Given the description of an element on the screen output the (x, y) to click on. 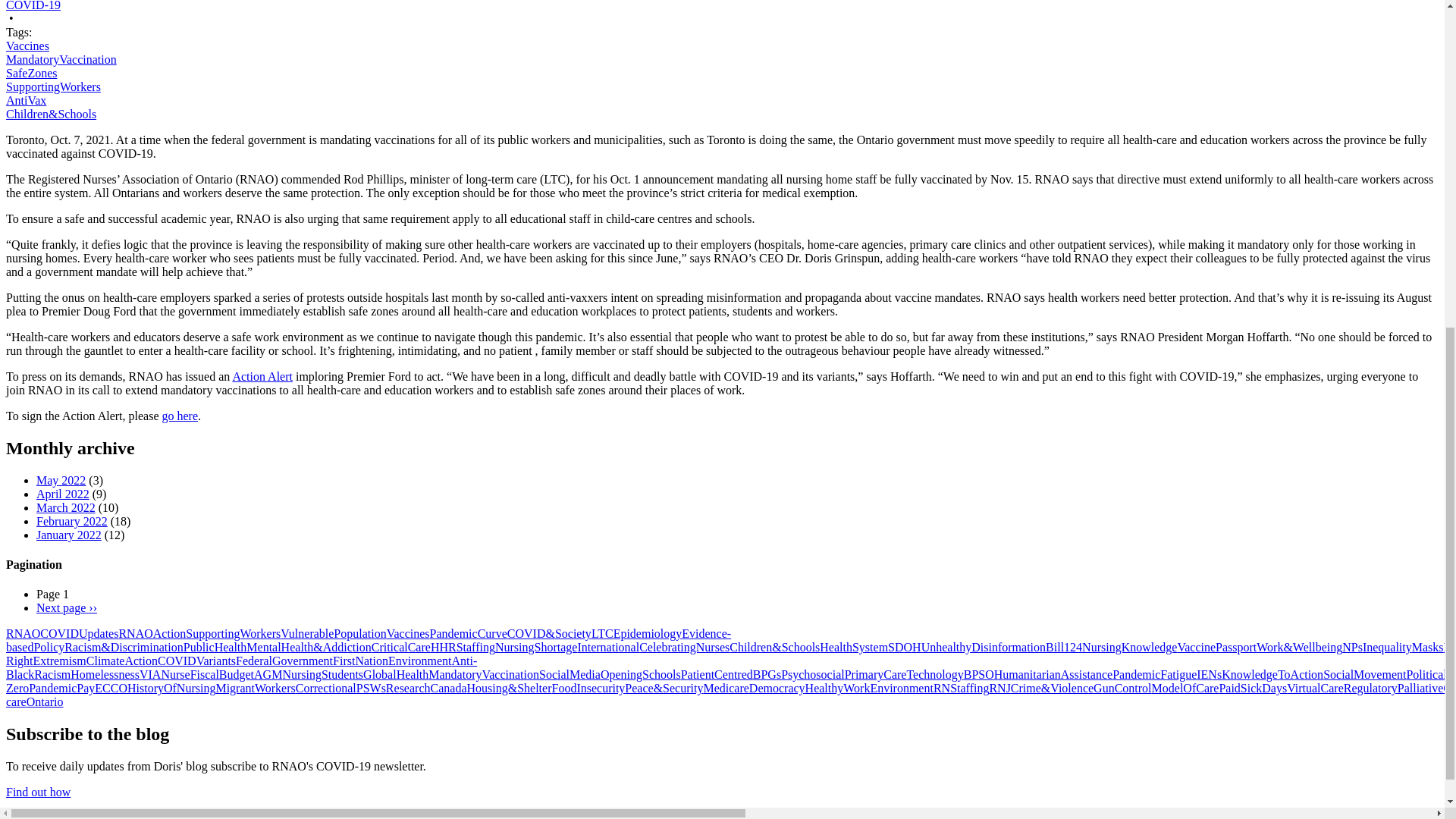
go here (179, 415)
Go to next page (66, 607)
SupportingWorkers (52, 86)
February 2022 (71, 521)
AntiVax (25, 100)
Action Alert (261, 376)
May 2022 (60, 480)
January 2022 (68, 534)
Vaccines (27, 45)
RNAOAction (151, 633)
COVID-19 (33, 5)
SupportingWorkers (233, 633)
SafeZones (31, 72)
RNAOCOVIDUpdates (61, 633)
March 2022 (66, 507)
